Given the description of an element on the screen output the (x, y) to click on. 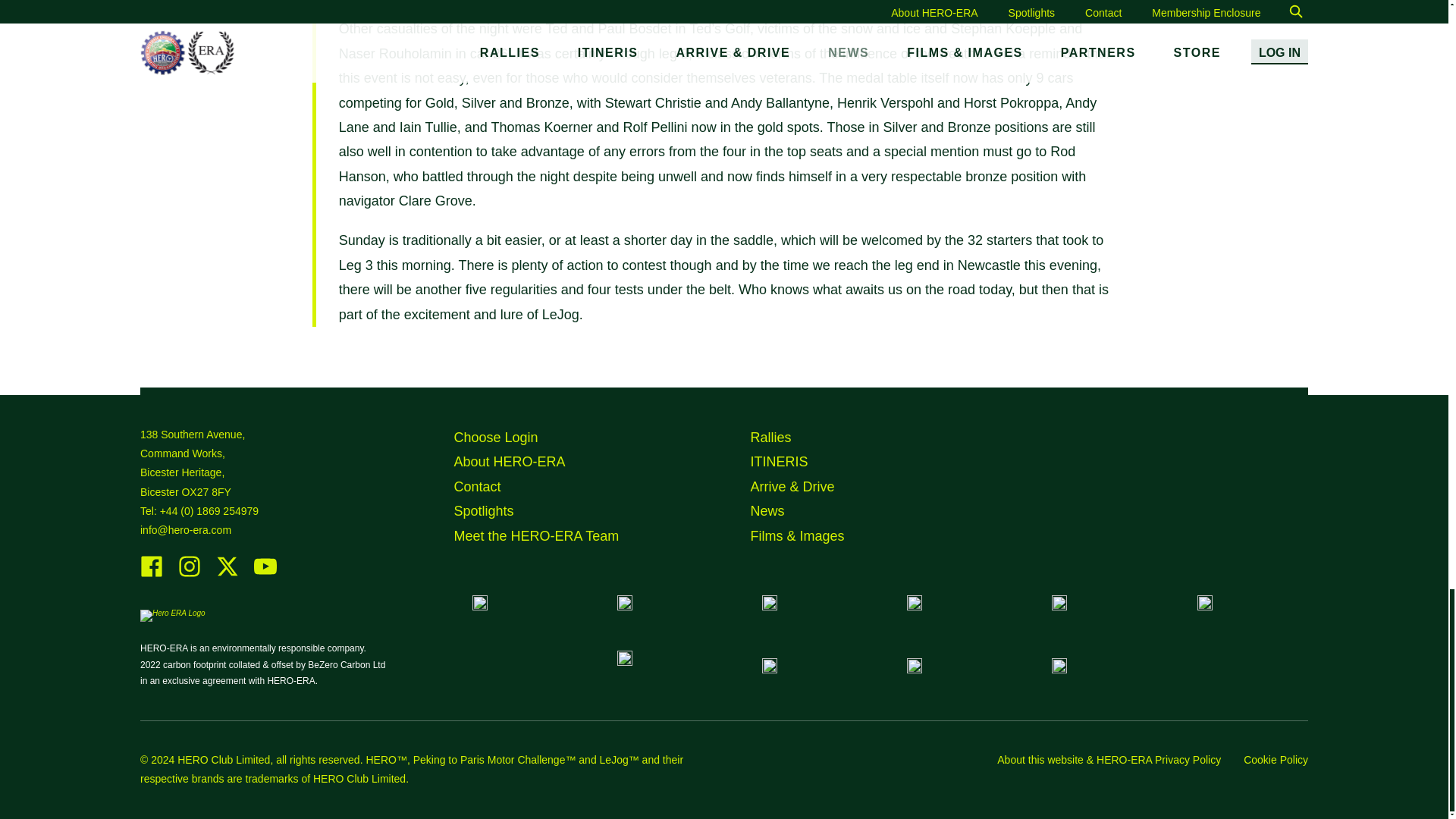
Contact (476, 486)
Spotlights (482, 510)
Visit us on Youtube (264, 574)
Visit us on Instagram (188, 574)
Visit us on Facebook (151, 574)
About HERO-ERA (508, 461)
Visit us on X (226, 574)
Choose Login (494, 437)
Meet the HERO-ERA Team (535, 535)
